Given the description of an element on the screen output the (x, y) to click on. 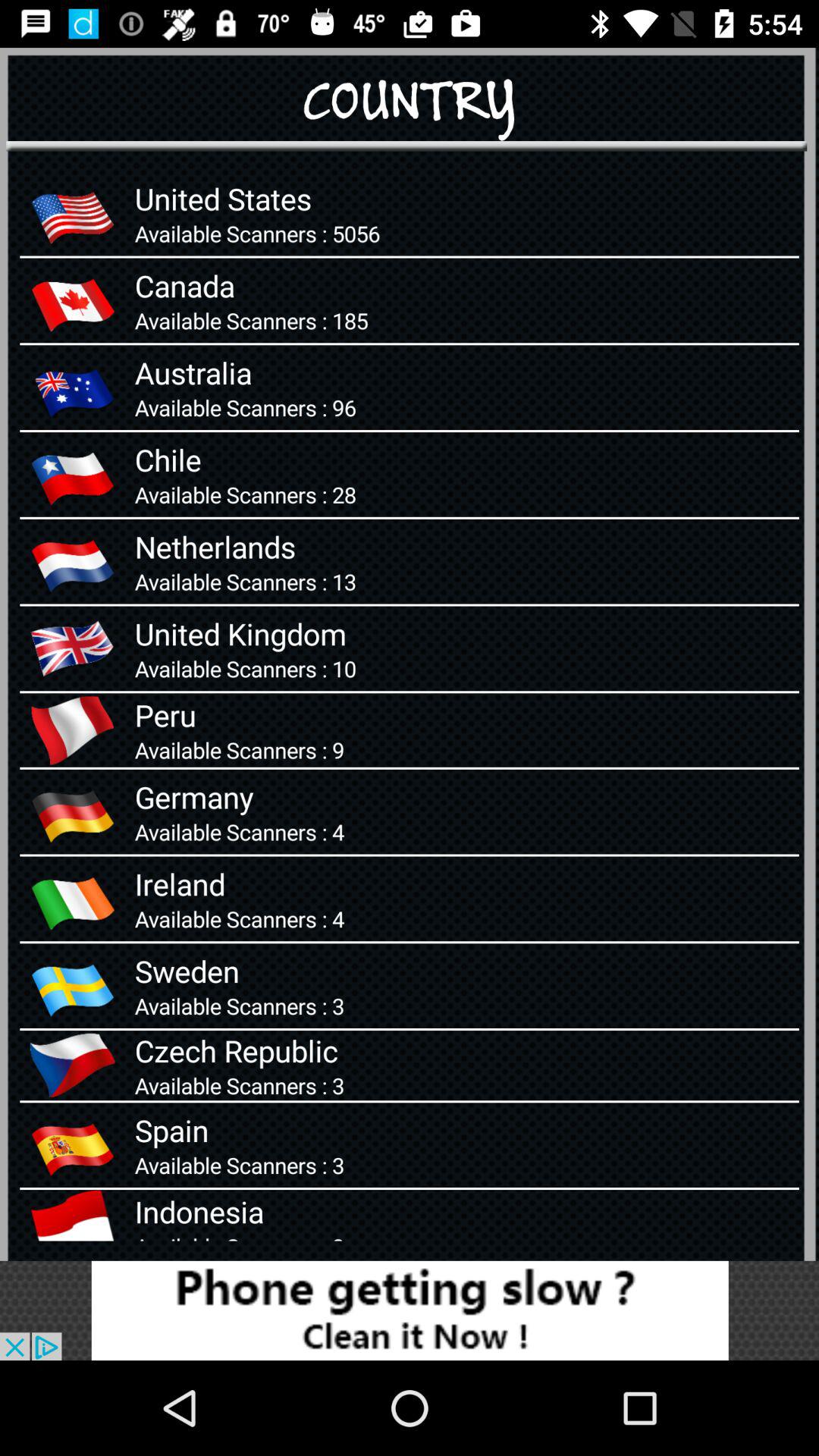
advertisement (409, 1310)
